Given the description of an element on the screen output the (x, y) to click on. 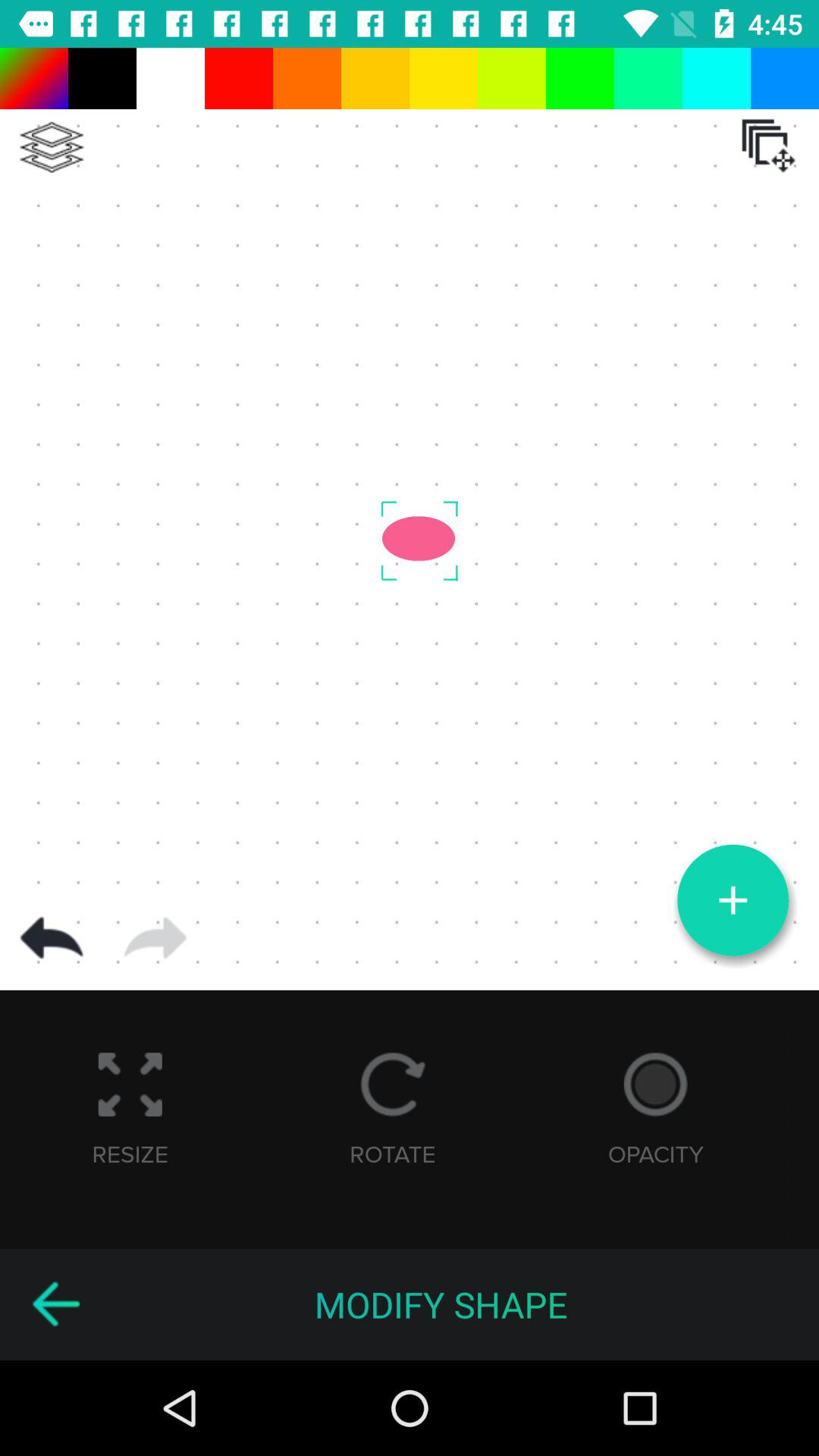
lets you create powerful branding for your business in a matter of minutes (55, 1304)
